Given the description of an element on the screen output the (x, y) to click on. 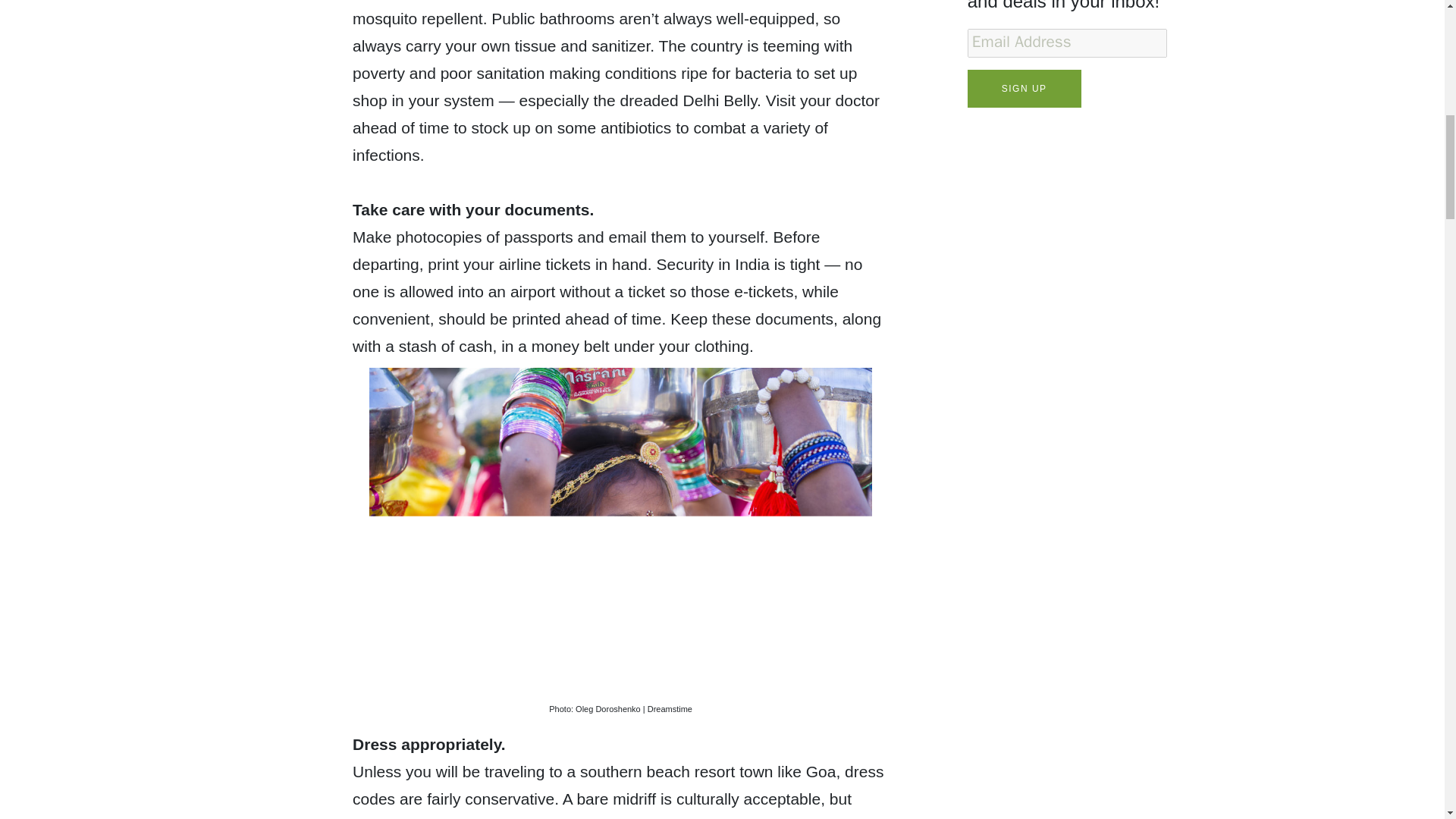
Sign Up (1024, 88)
